Given the description of an element on the screen output the (x, y) to click on. 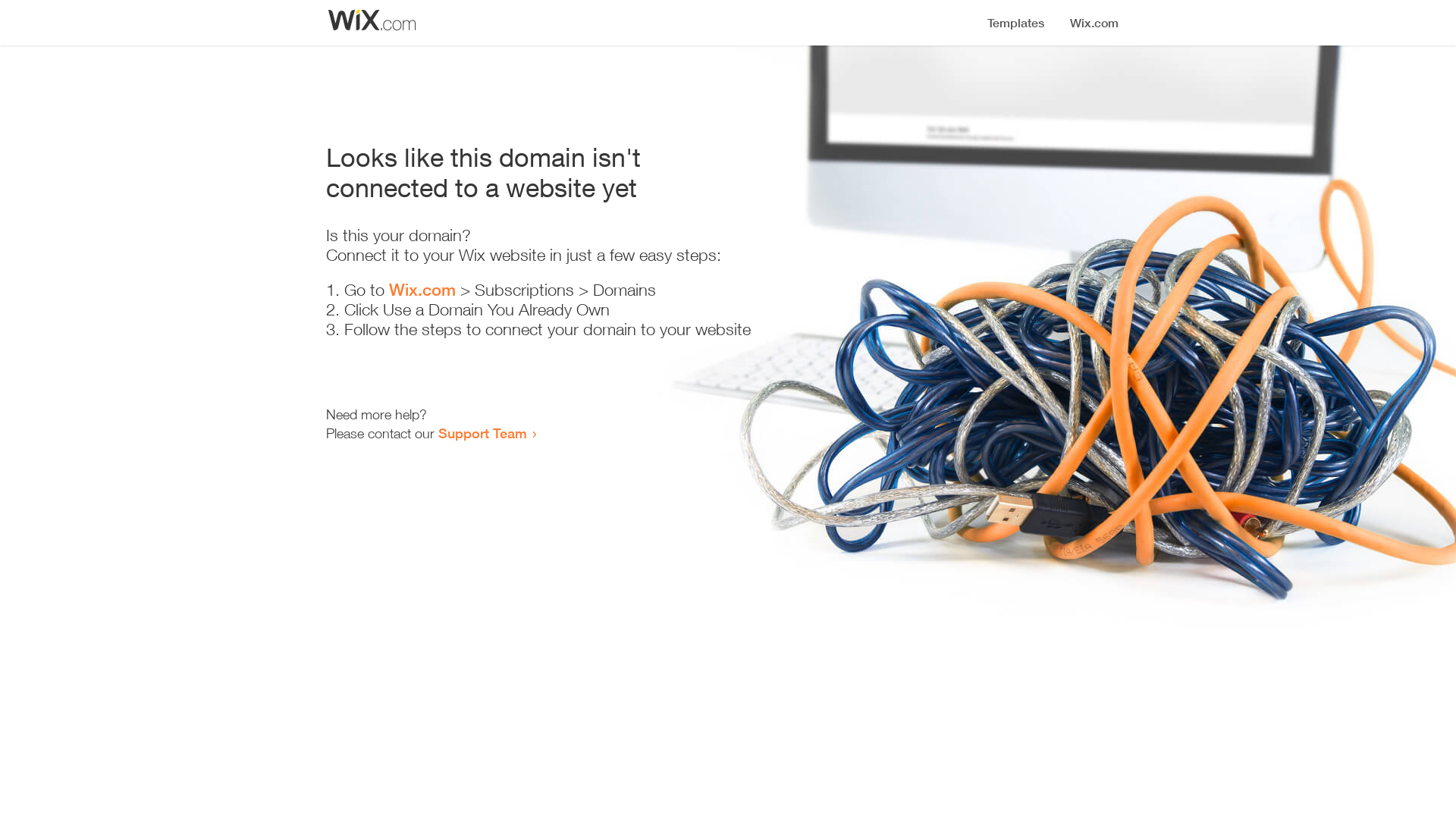
Wix.com Element type: text (422, 289)
Support Team Element type: text (482, 432)
